Given the description of an element on the screen output the (x, y) to click on. 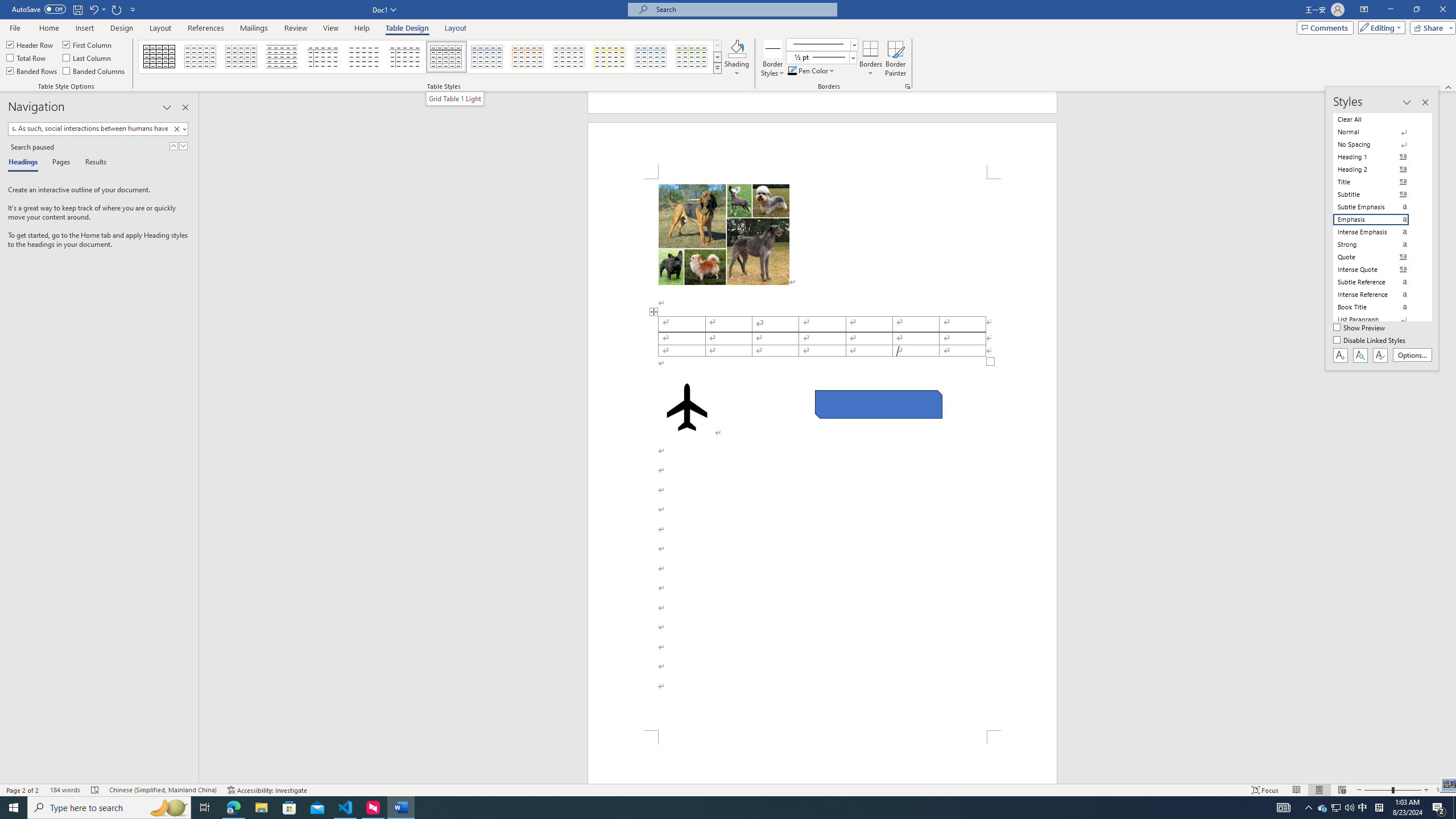
Word Count 184 words (64, 790)
Grid Table 1 Light - Accent 5 (650, 56)
Quote (1377, 256)
List Paragraph (1377, 319)
Clear (176, 128)
Grid Table 1 Light - Accent 3 (568, 56)
Table Grid Light (200, 56)
Normal (1377, 131)
Subtitle (1377, 194)
Next Result (183, 145)
Morphological variation in six dogs (723, 234)
Grid Table 1 Light - Accent 2 (528, 56)
